Given the description of an element on the screen output the (x, y) to click on. 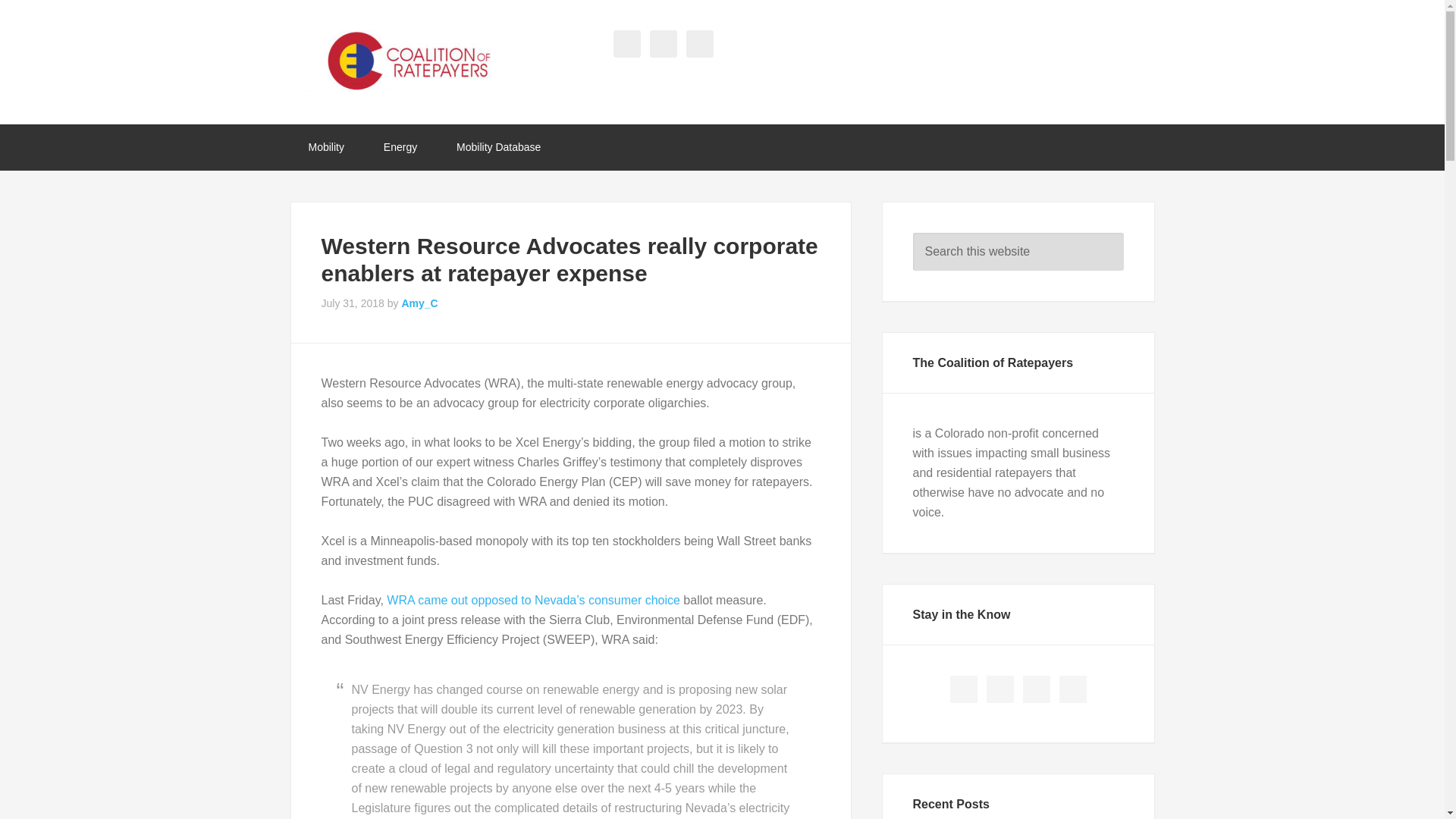
Mobility Database (498, 147)
Mobility (325, 147)
Energy (400, 147)
Coalition of Ratepayers (410, 60)
